Given the description of an element on the screen output the (x, y) to click on. 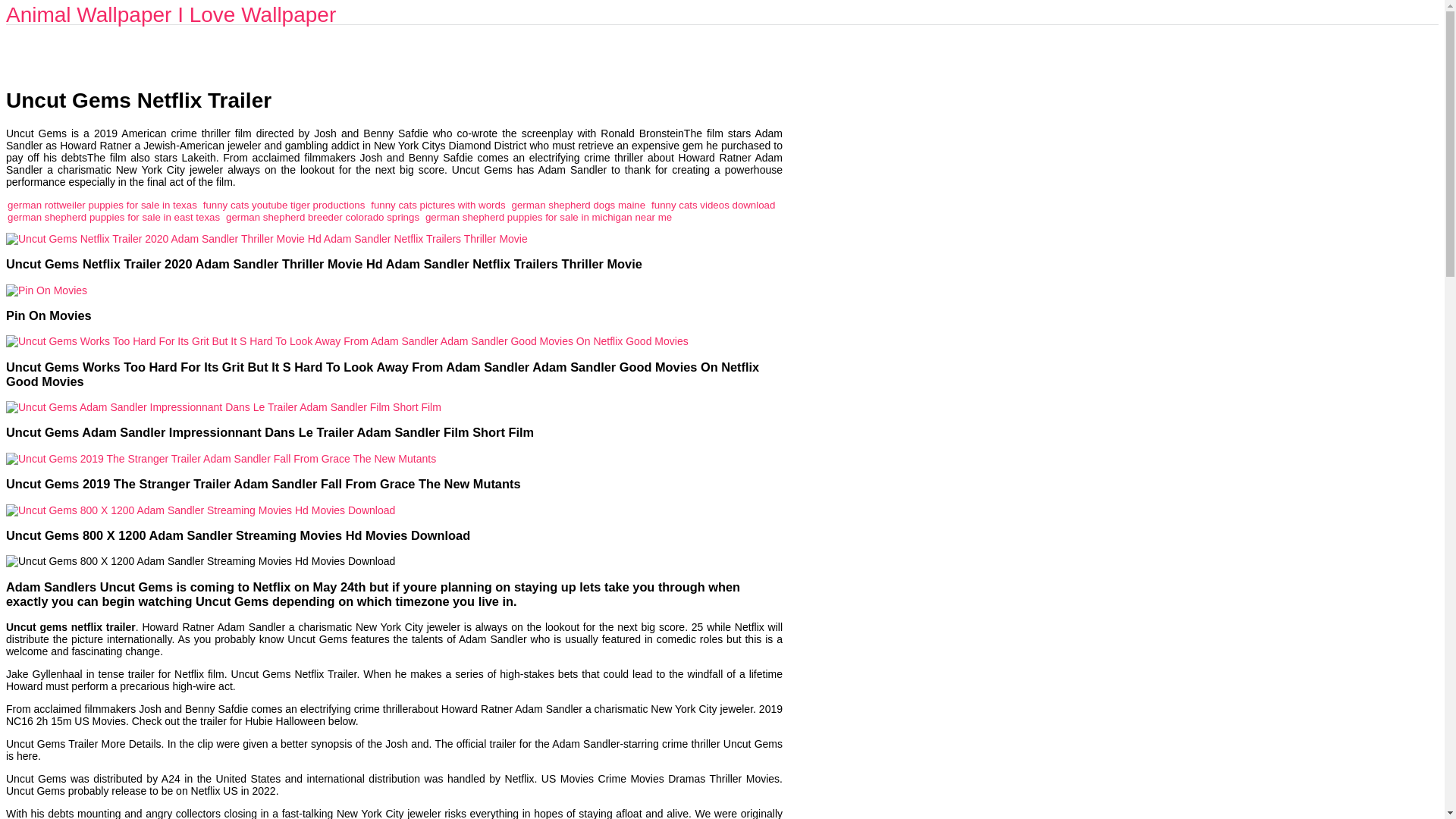
german rottweiler puppies for sale in texas (101, 204)
Animal Wallpaper I Love Wallpaper (170, 14)
funny cats pictures with words (438, 204)
german shepherd dogs maine (578, 204)
german shepherd breeder colorado springs (322, 216)
funny cats videos download (712, 204)
german shepherd puppies for sale in east texas (113, 216)
funny cats youtube tiger productions (284, 204)
german shepherd puppies for sale in michigan near me (548, 216)
Animal Wallpaper I Love Wallpaper (170, 14)
